Given the description of an element on the screen output the (x, y) to click on. 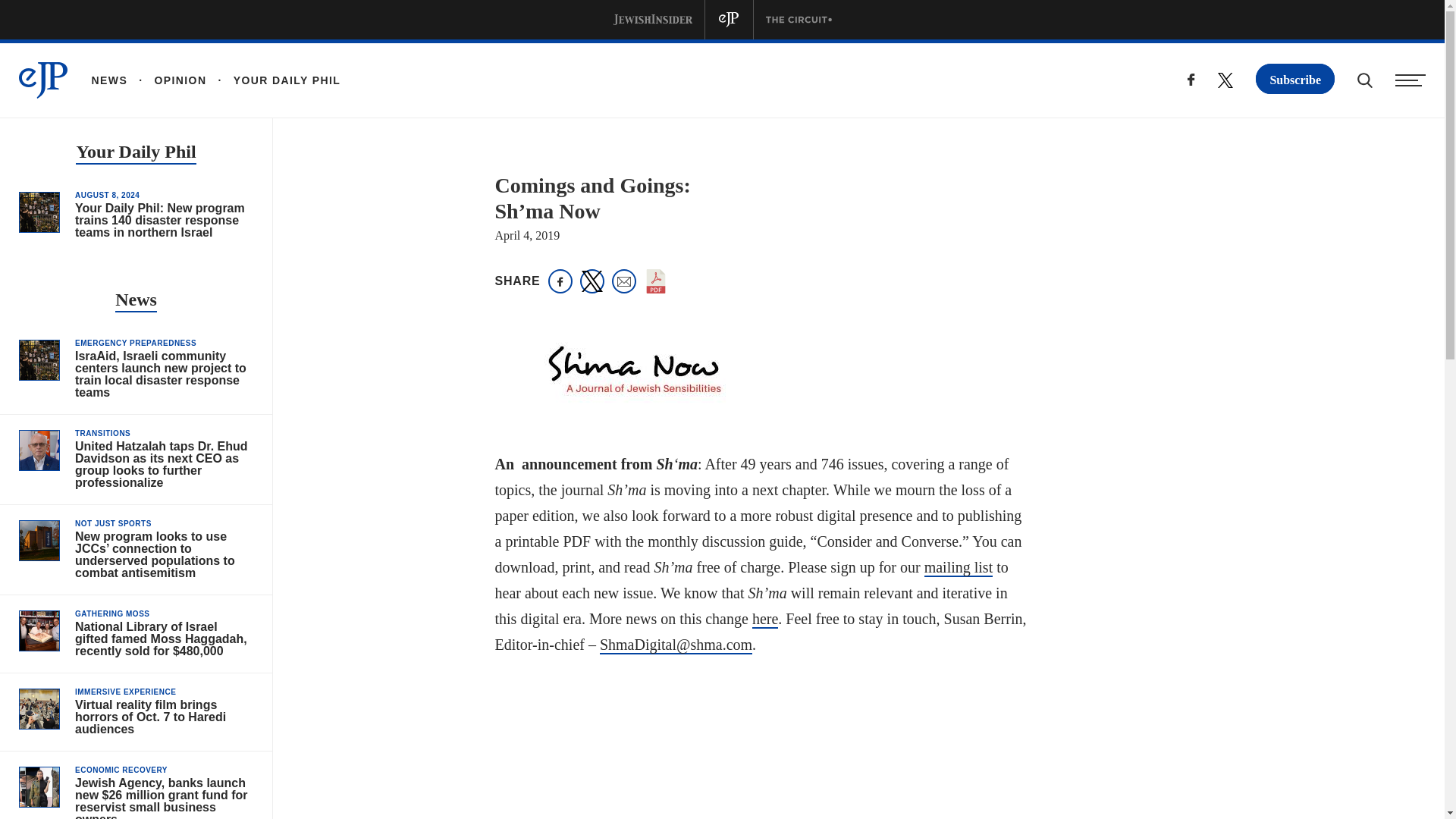
Your Daily Phil (135, 153)
here (764, 619)
YOUR DAILY PHIL (273, 80)
NEWS (109, 80)
News (136, 301)
OPINION (167, 80)
mailing list (958, 567)
